Given the description of an element on the screen output the (x, y) to click on. 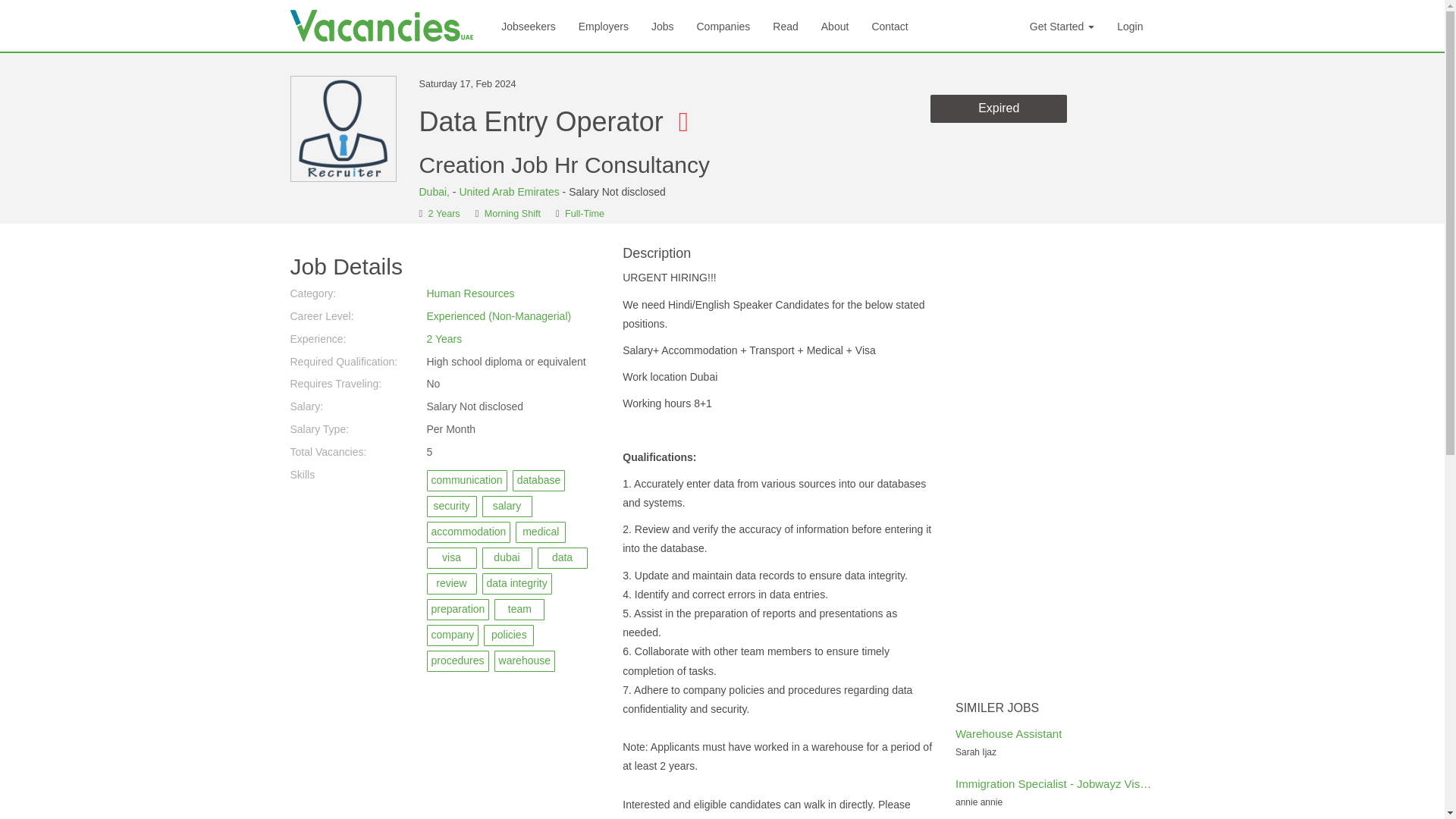
Login (1129, 26)
Employers (603, 26)
Read (785, 26)
SIMILER JOBS (1054, 707)
Warehouse Assistant (1008, 733)
Jobs (662, 26)
Human Resources (469, 293)
Expired (998, 108)
United Arab Emirates (508, 191)
Contact (889, 26)
2 Years (443, 338)
Dubai, (435, 191)
Get Started (1061, 26)
2 Years (444, 213)
Companies (722, 26)
